Given the description of an element on the screen output the (x, y) to click on. 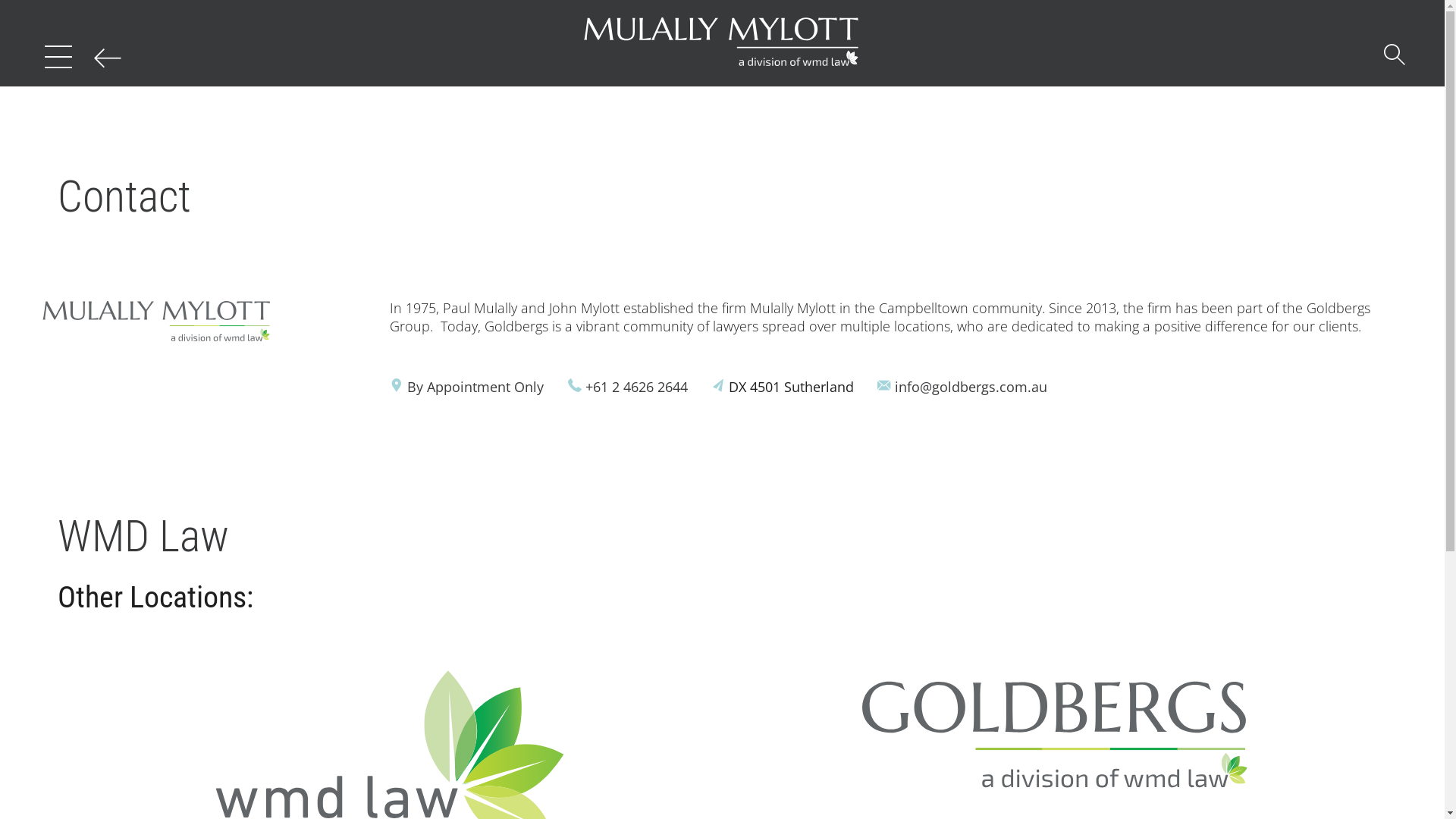
By Appointment Only Element type: text (475, 386)
+61 2 4626 2644 Element type: text (636, 386)
Mulally Mylott Lawyers Element type: hover (722, 43)
info@goldbergs.com.au Element type: text (970, 386)
